Given the description of an element on the screen output the (x, y) to click on. 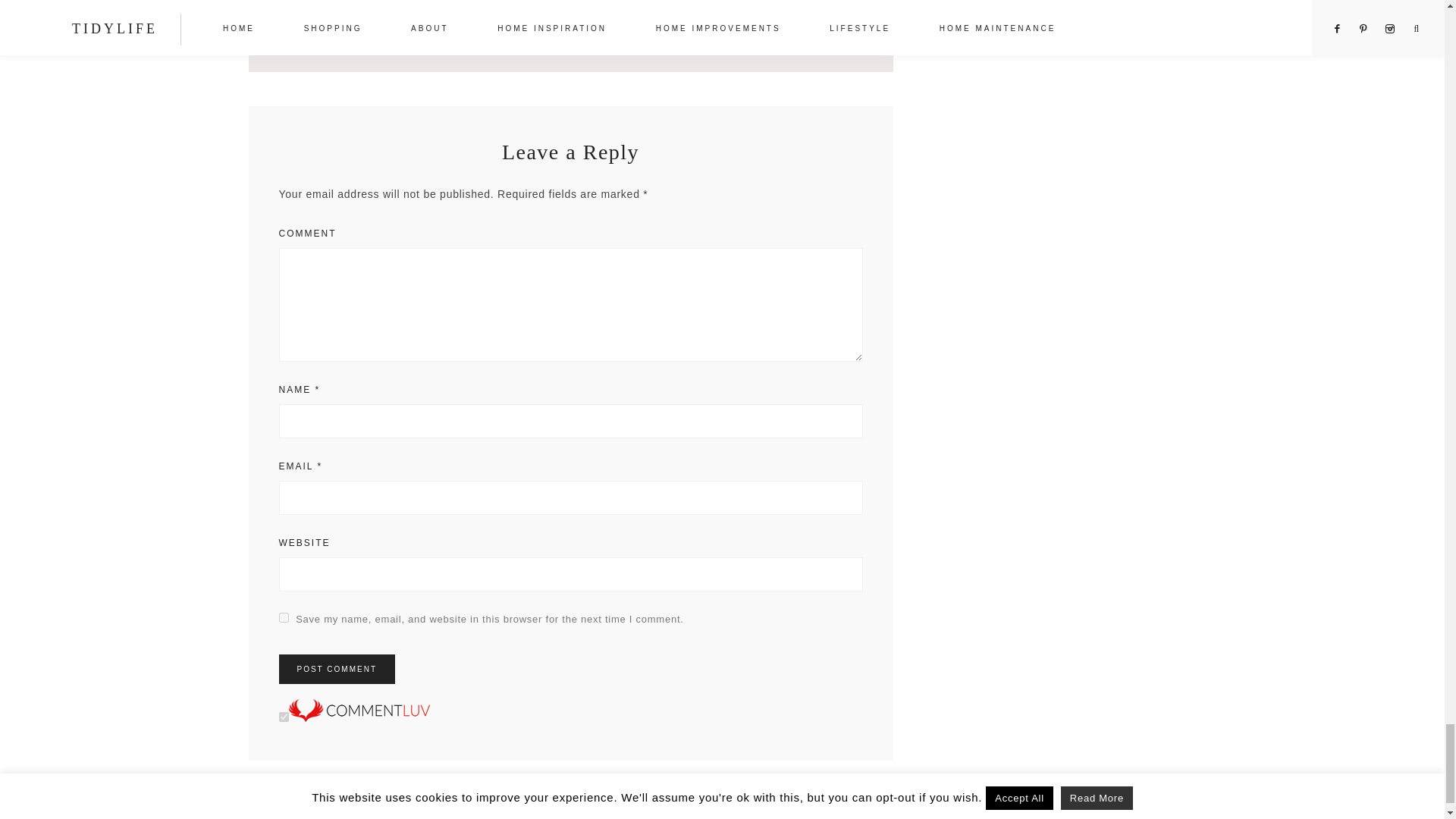
on (283, 716)
yes (283, 617)
CommentLuv is enabled (358, 717)
Post Comment (336, 668)
